Given the description of an element on the screen output the (x, y) to click on. 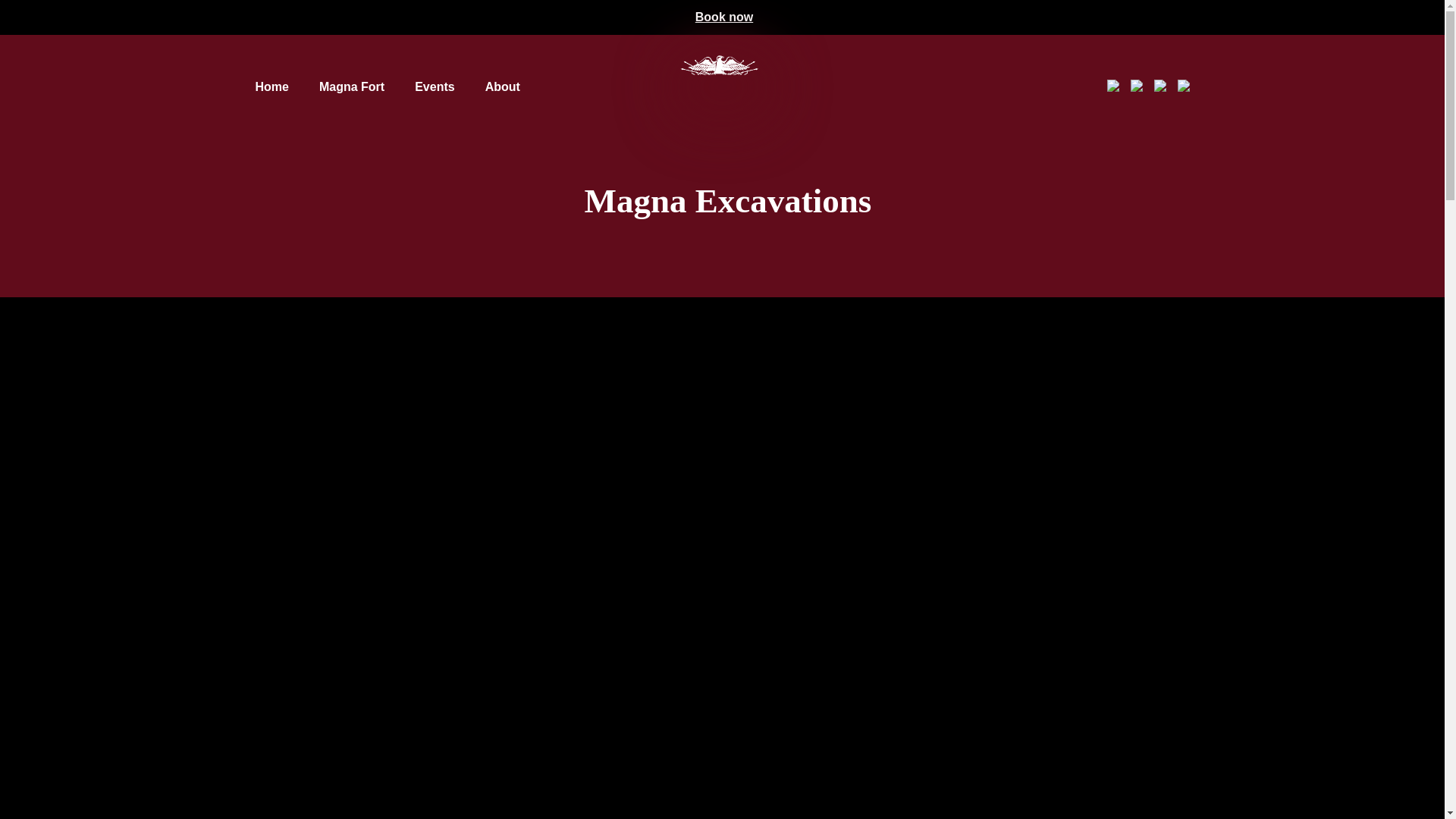
Events (434, 86)
Book now (723, 17)
About (501, 86)
Home (271, 86)
Magna Fort (351, 86)
